Given the description of an element on the screen output the (x, y) to click on. 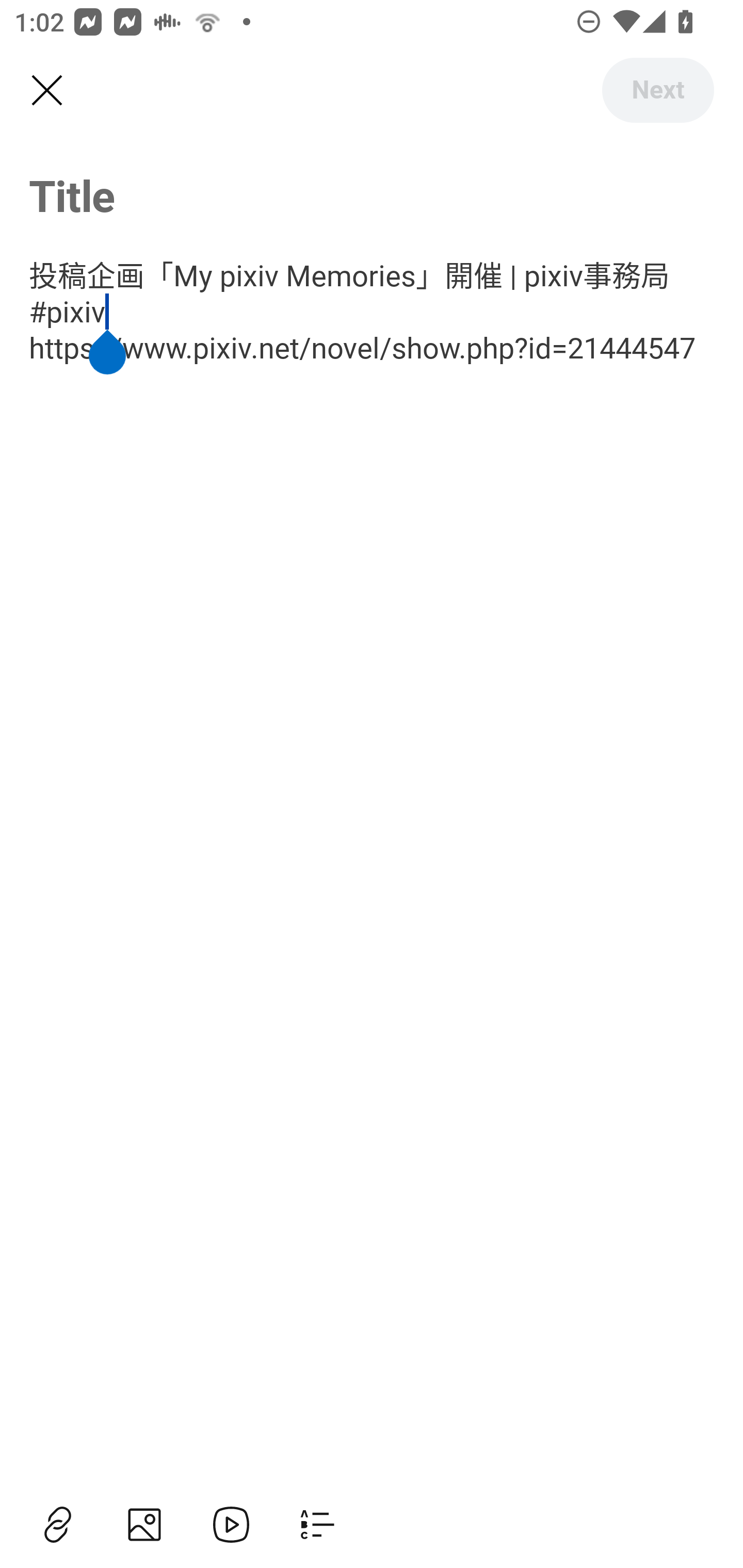
Close (46, 90)
Next (657, 90)
Post title (371, 195)
